Given the description of an element on the screen output the (x, y) to click on. 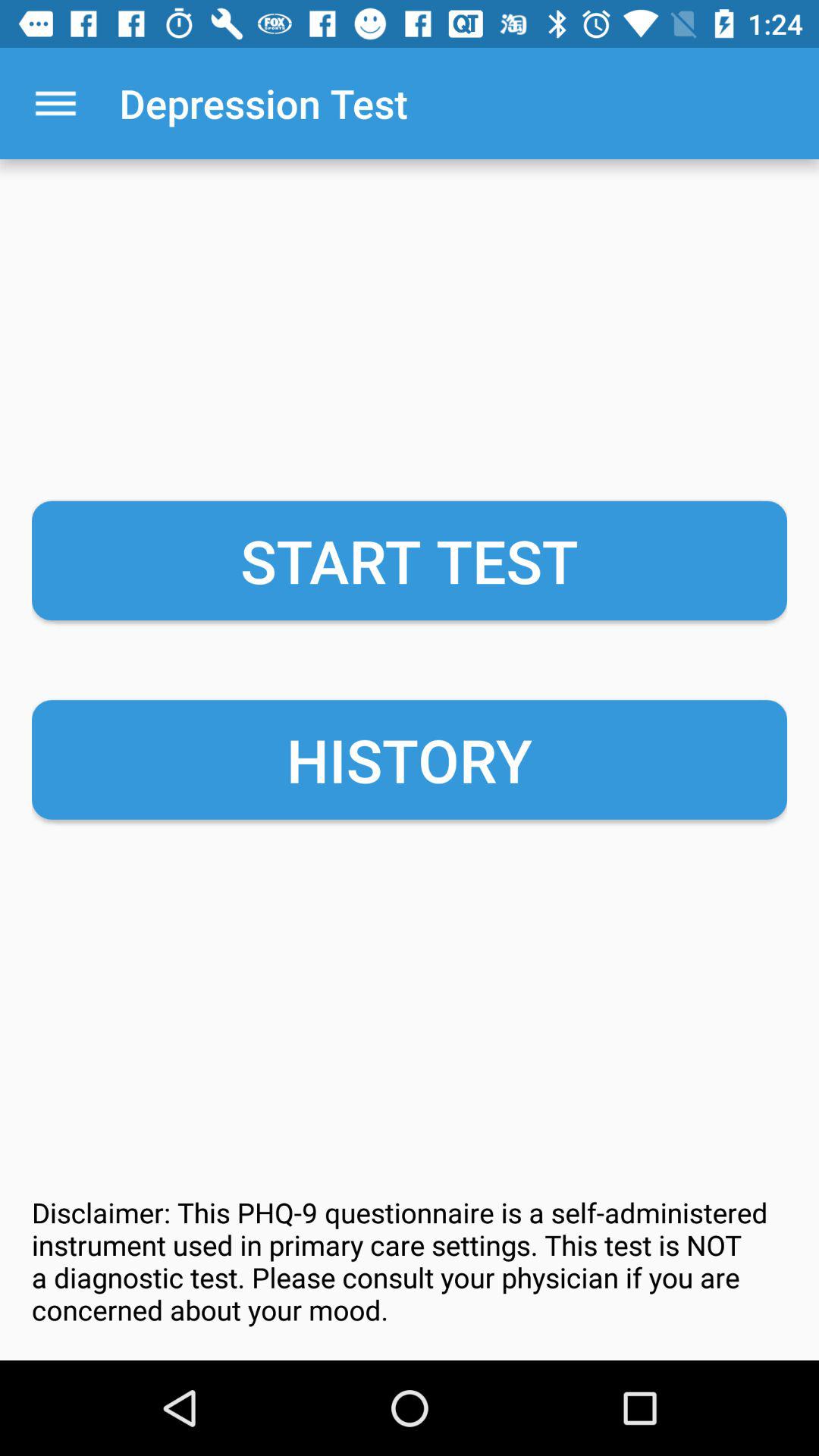
swipe to the start test (409, 560)
